Given the description of an element on the screen output the (x, y) to click on. 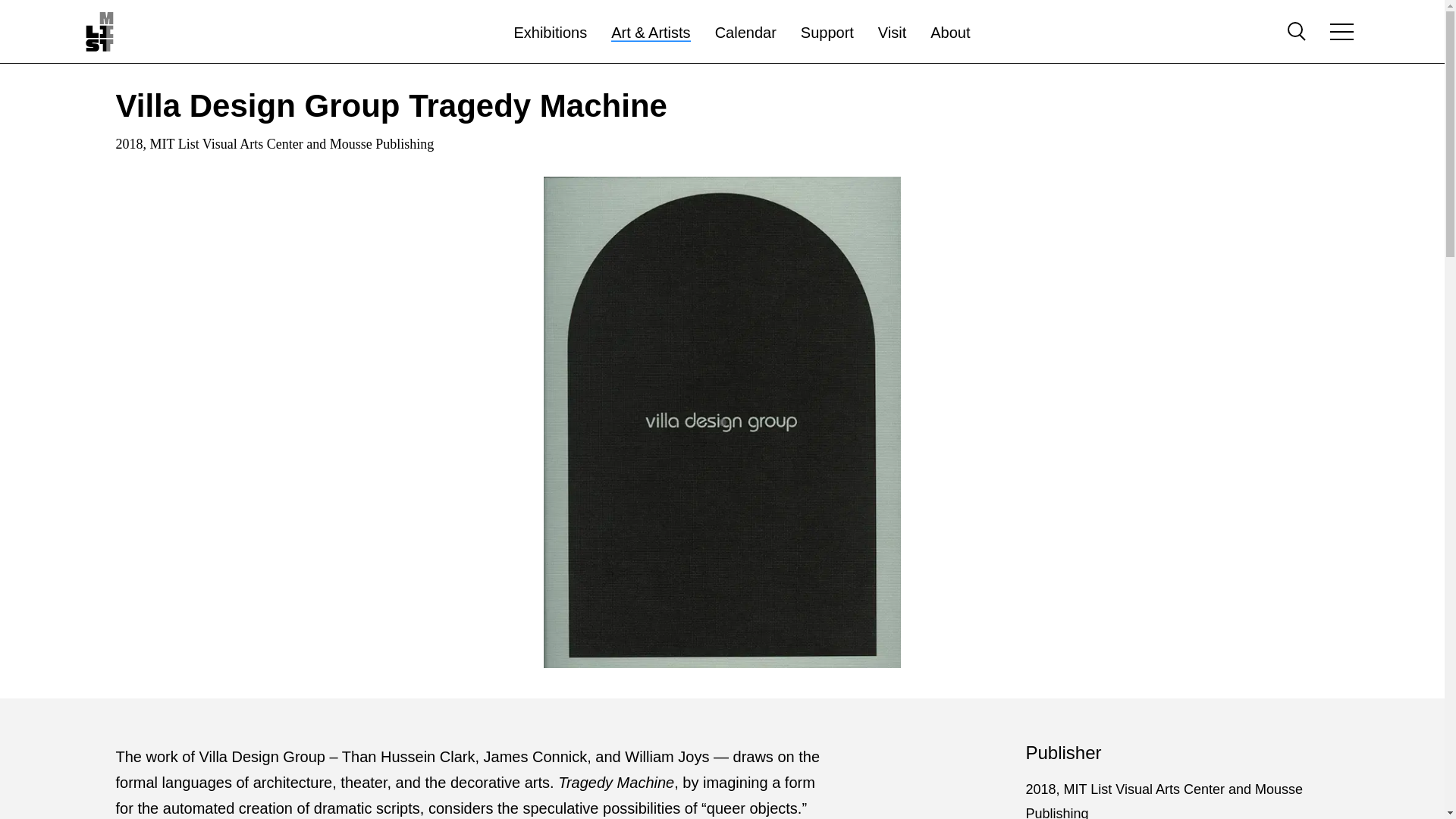
Exhibitions (549, 33)
Visit (891, 33)
Support (826, 33)
View results (1277, 92)
About (949, 33)
Calendar (745, 33)
Toggle full menu visibility (1341, 31)
